Given the description of an element on the screen output the (x, y) to click on. 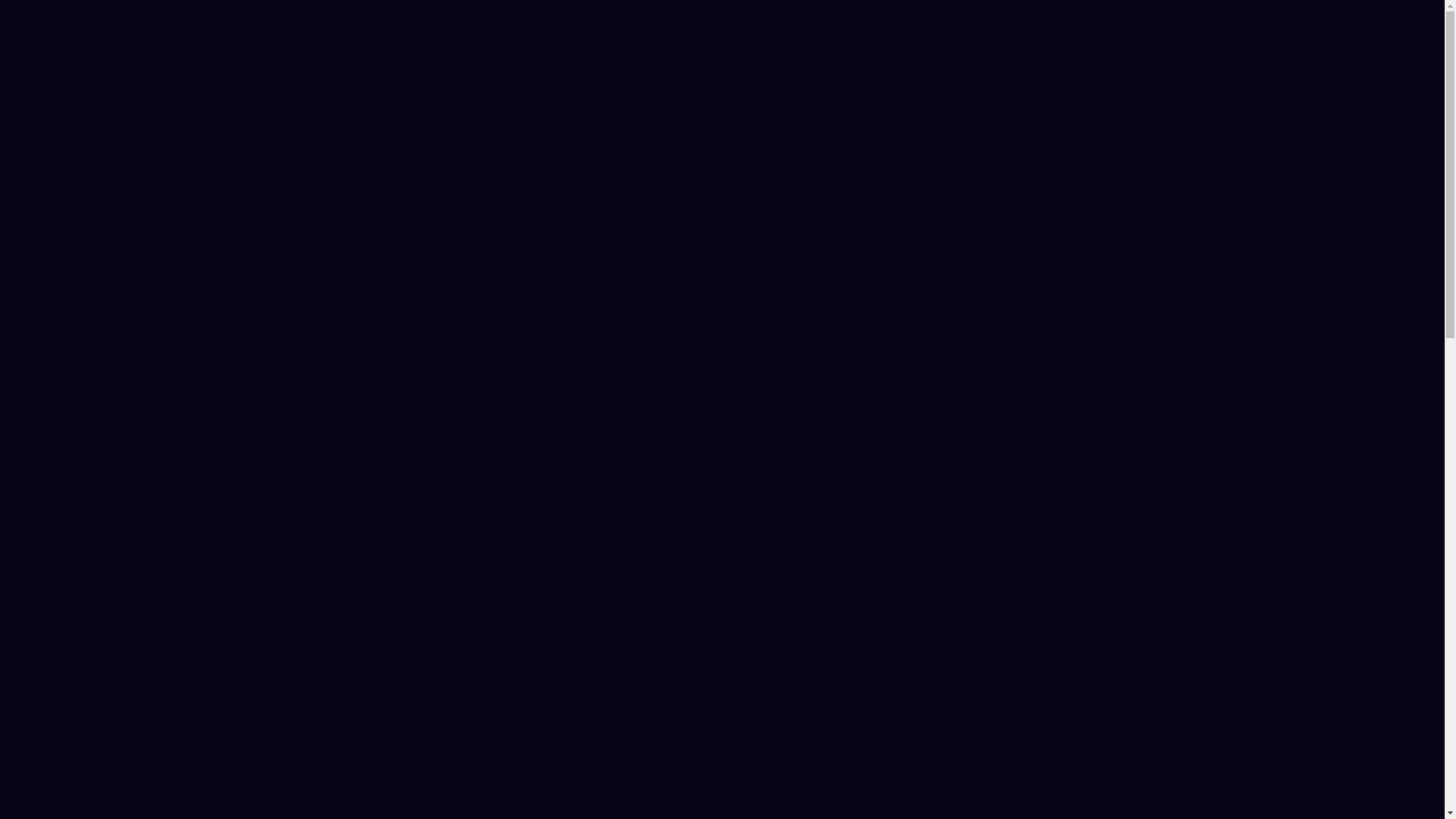
Add to favorite Element type: hover (1086, 594)
POPULAR BRANDS Element type: text (760, 22)
Add to favorite Element type: hover (505, 594)
LUBES & ESSENTIALS Element type: text (624, 22)
BLACK FRIDAY SALE Element type: text (898, 22)
TOYS & GEAR Element type: text (503, 22)
Add to favorite Element type: hover (893, 594)
Add to favorite Element type: hover (699, 594)
CLOTHING Element type: text (406, 22)
Home Page Element type: hover (278, 22)
